Given the description of an element on the screen output the (x, y) to click on. 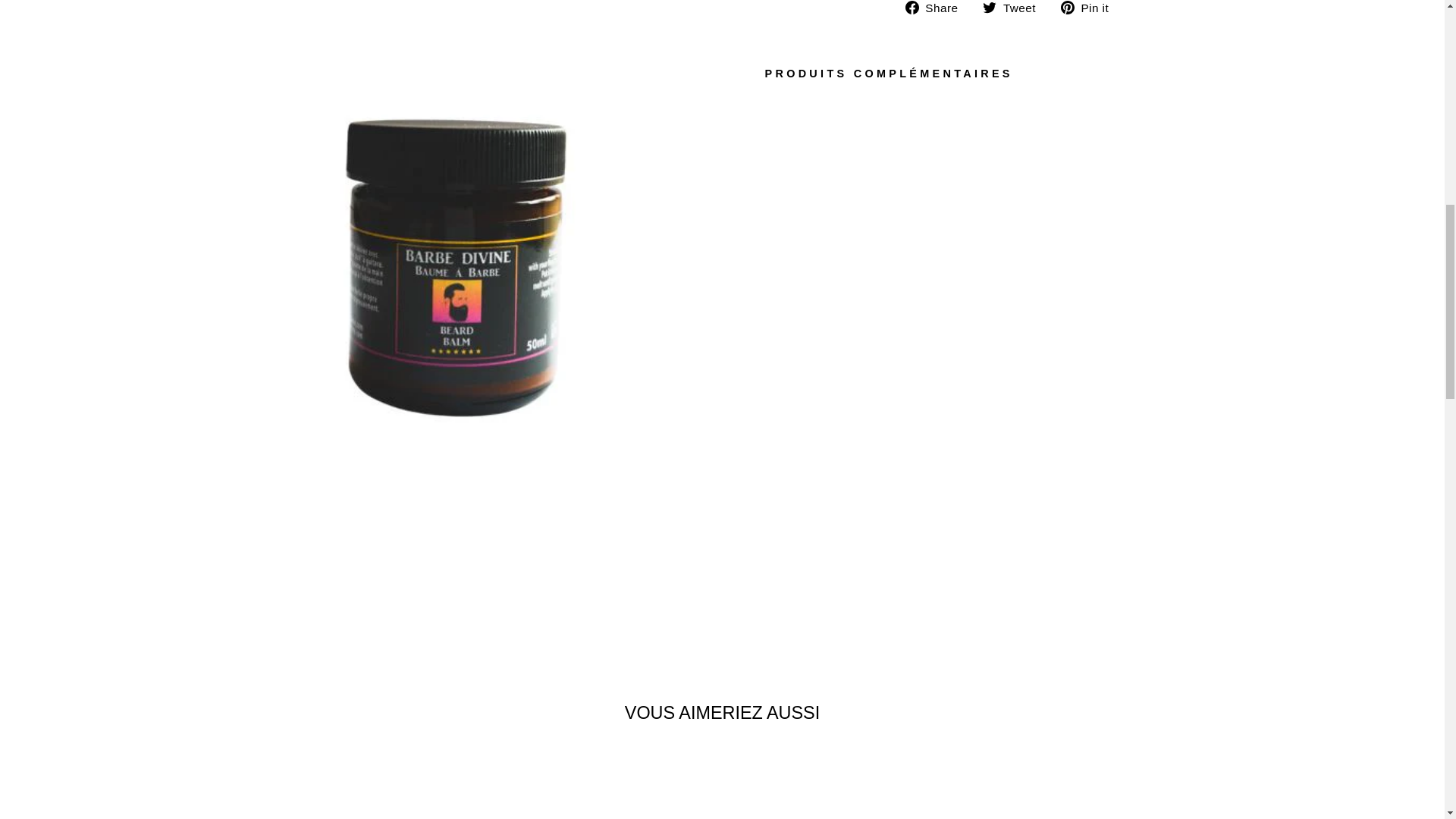
Pin on Pinterest (1090, 8)
Tweet on Twitter (1014, 8)
Share on Facebook (937, 8)
twitter (988, 7)
